Given the description of an element on the screen output the (x, y) to click on. 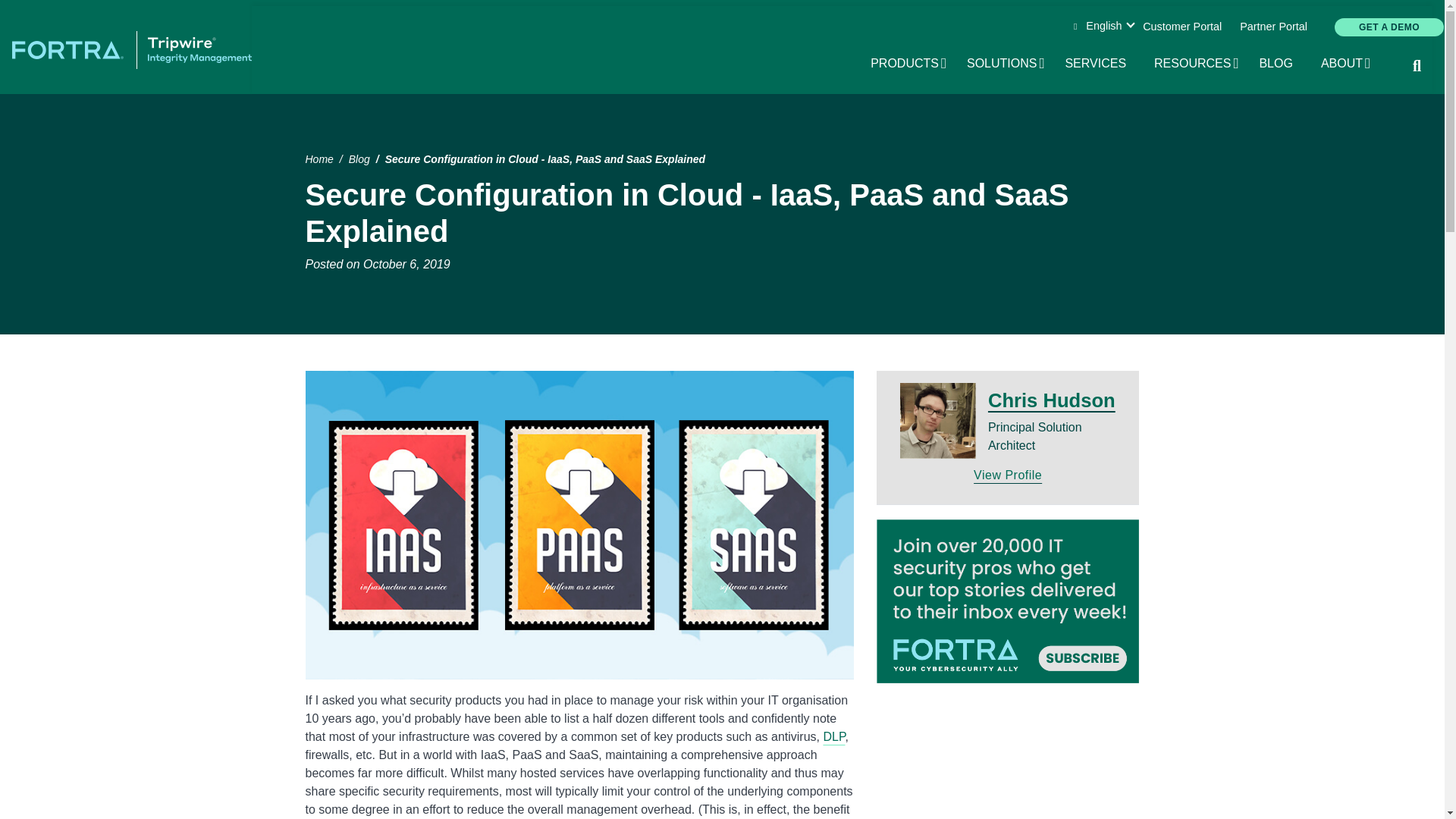
Home (1197, 63)
Partner Portal (909, 63)
GET A DEMO (1346, 63)
BLOG (1006, 63)
Customer Portal (131, 48)
Skip to main content (1273, 27)
